Given the description of an element on the screen output the (x, y) to click on. 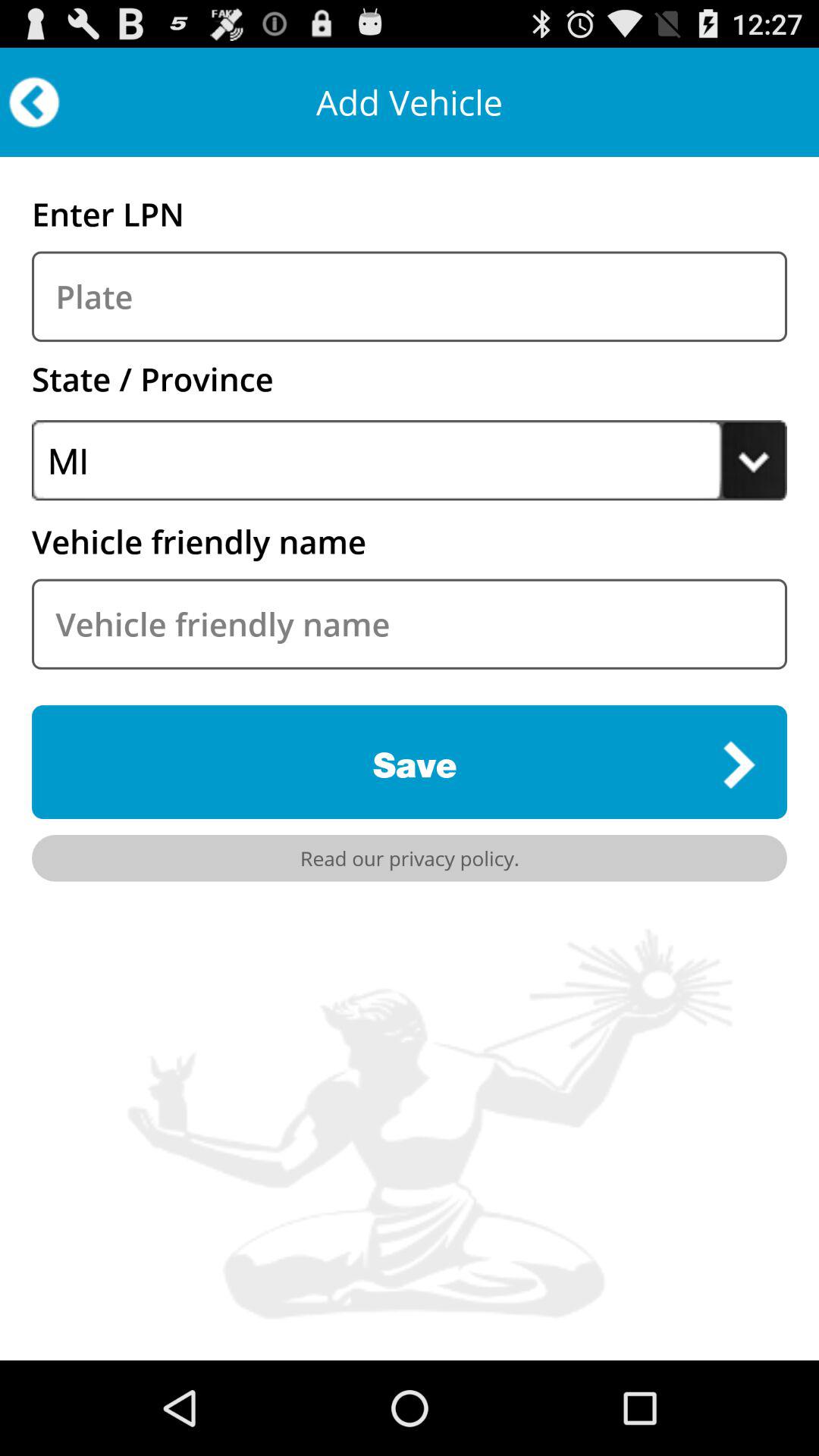
toggle vehicle information (409, 623)
